Given the description of an element on the screen output the (x, y) to click on. 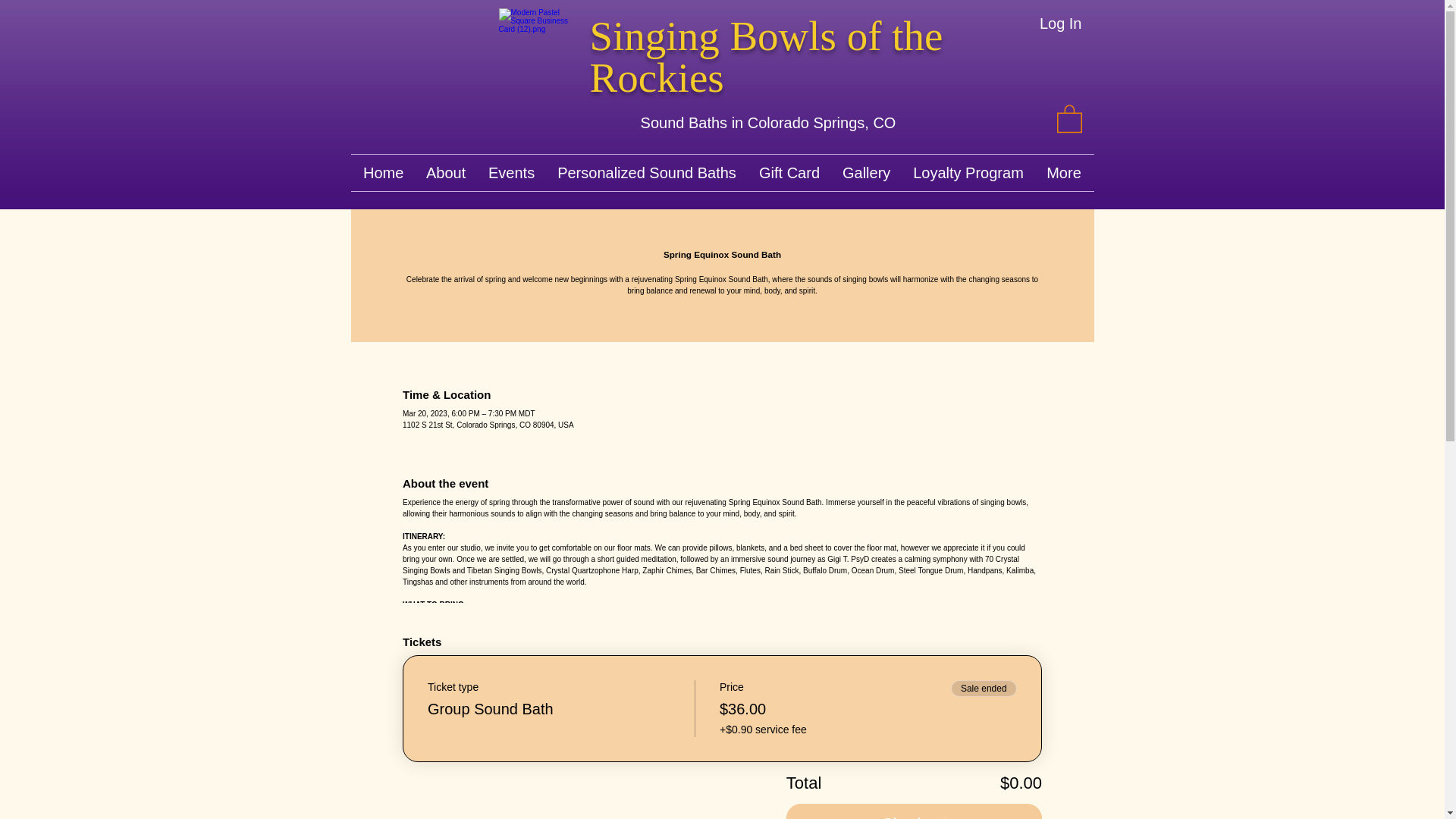
Checkout (914, 811)
Singing Bowls of the Rockies (766, 56)
Gallery (866, 172)
Gift Card (789, 172)
Loyalty Program (968, 172)
Home (383, 172)
Log In (1061, 23)
Personalized Sound Baths (647, 172)
Events (511, 172)
About (445, 172)
